Given the description of an element on the screen output the (x, y) to click on. 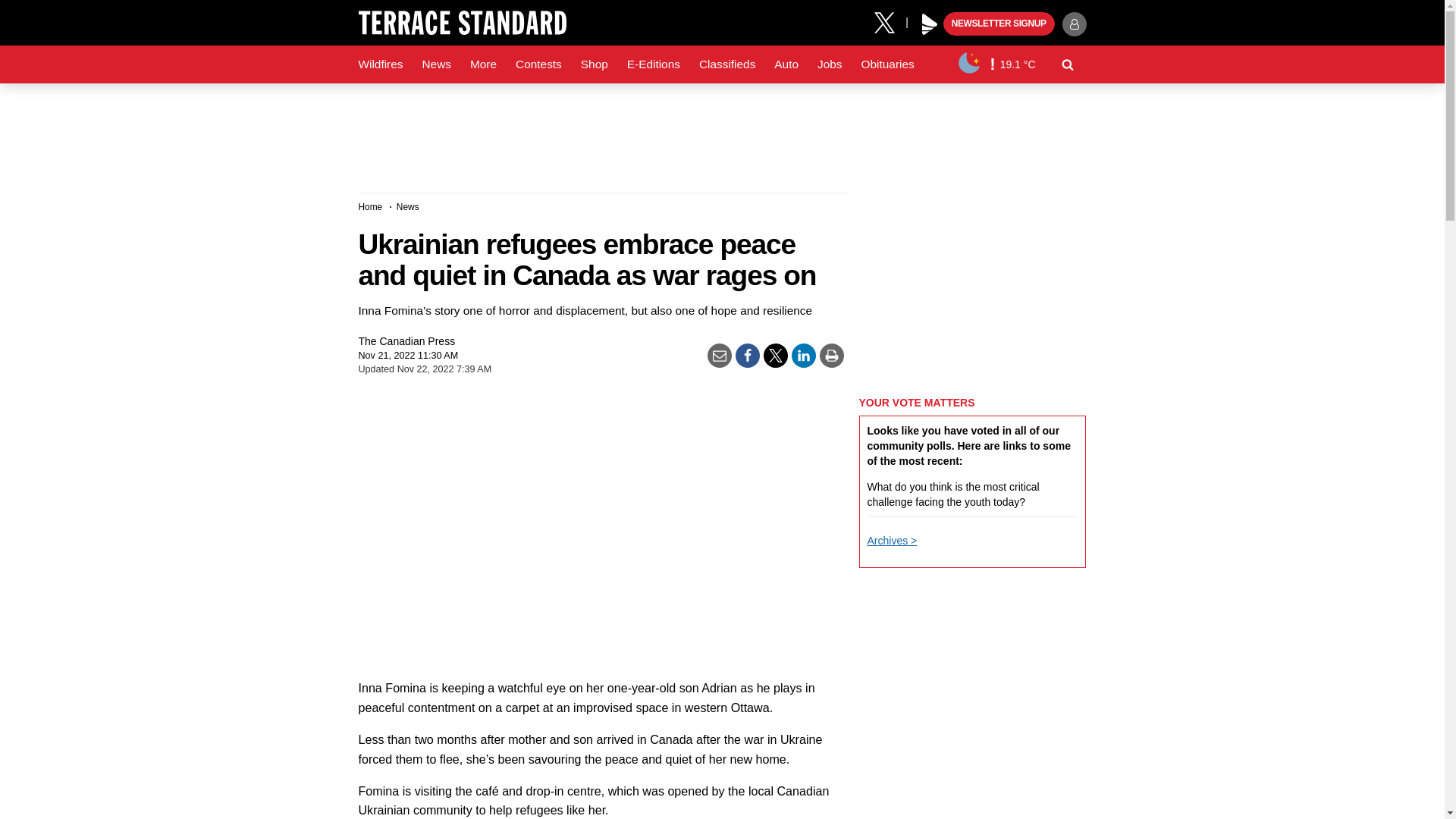
Black Press Media (929, 24)
News (435, 64)
X (889, 21)
NEWSLETTER SIGNUP (998, 24)
Play (929, 24)
Wildfires (380, 64)
